Given the description of an element on the screen output the (x, y) to click on. 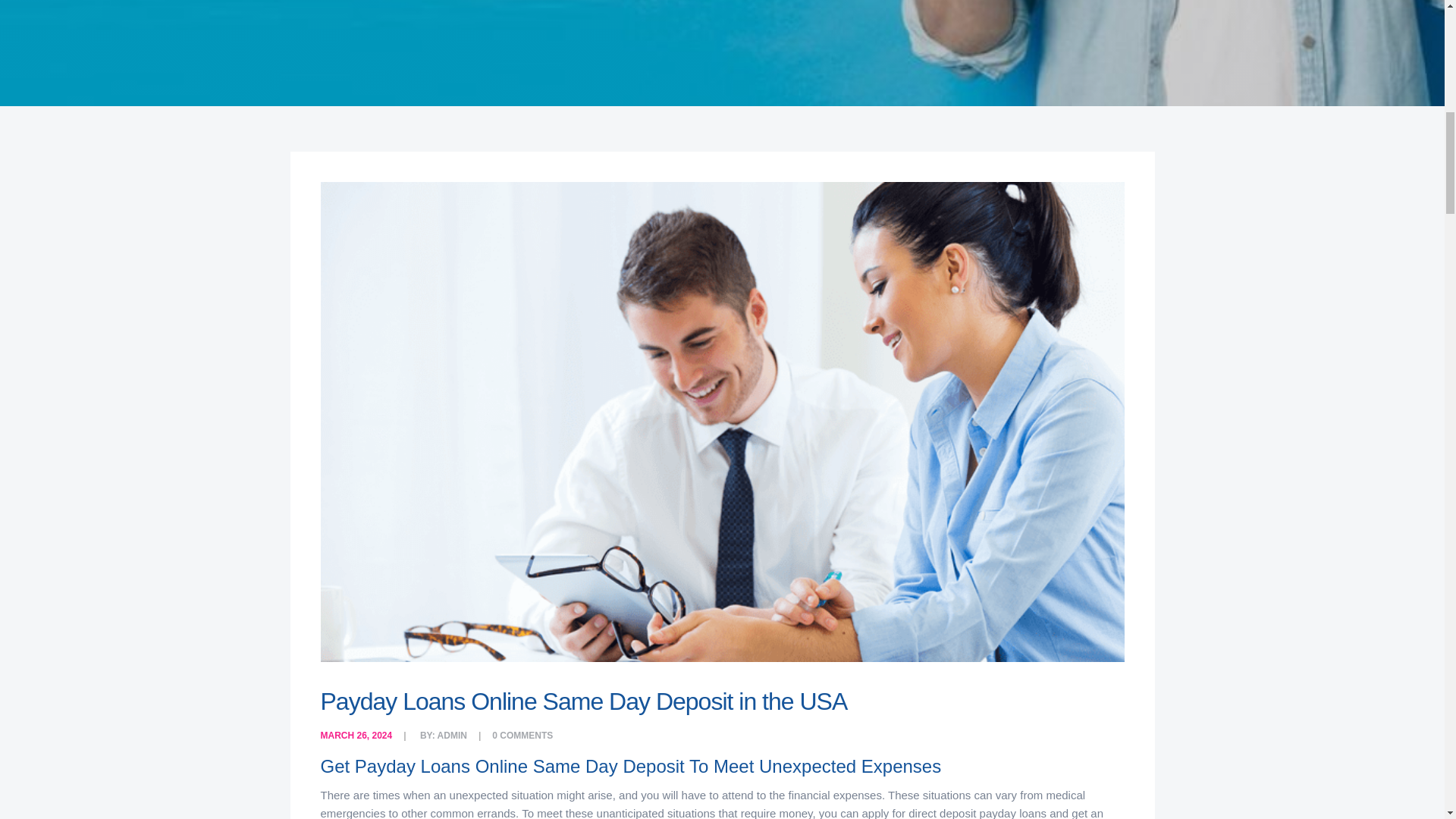
ADMIN (452, 735)
COMMENTS (526, 735)
